Given the description of an element on the screen output the (x, y) to click on. 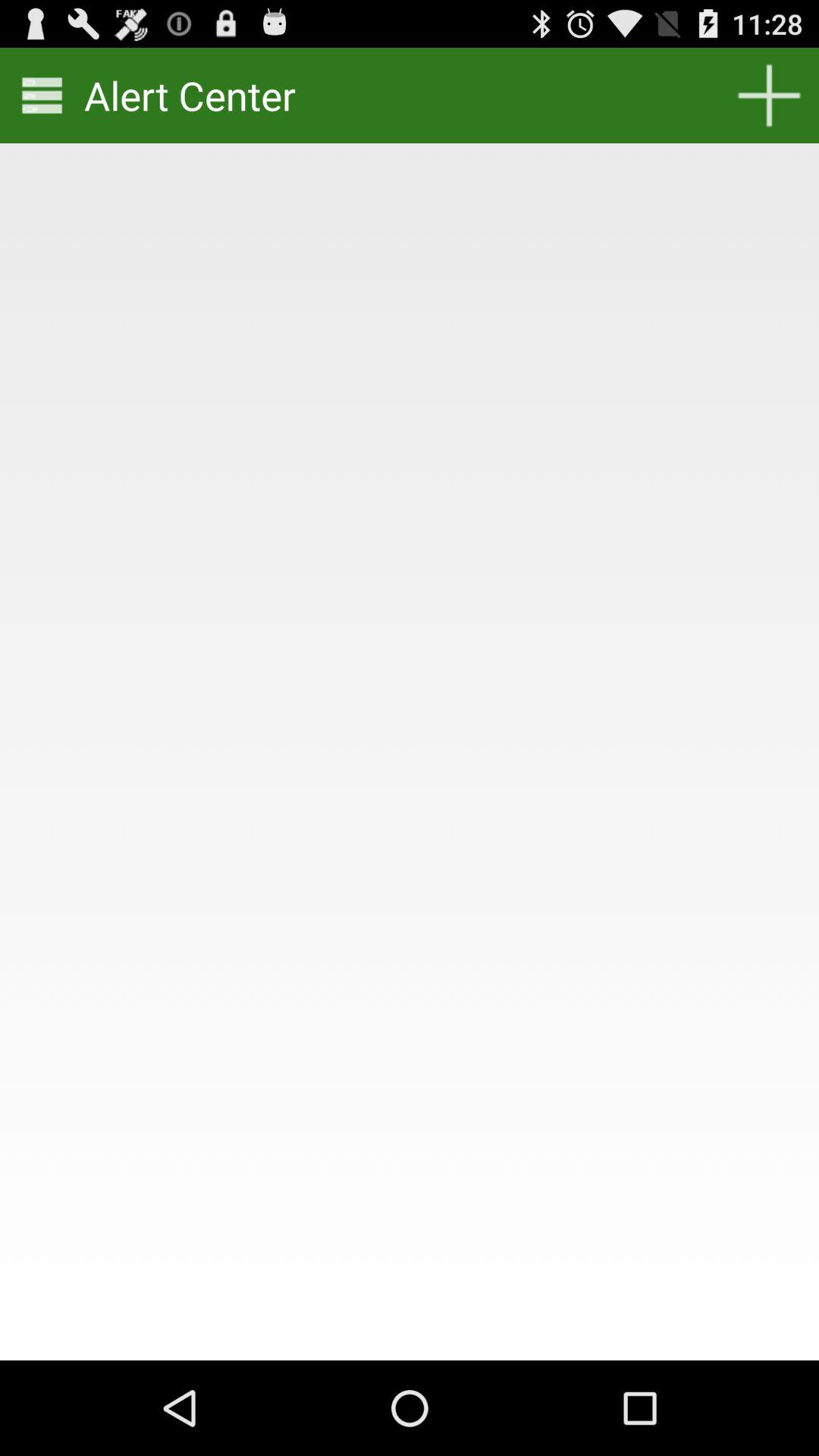
add button (769, 95)
